Given the description of an element on the screen output the (x, y) to click on. 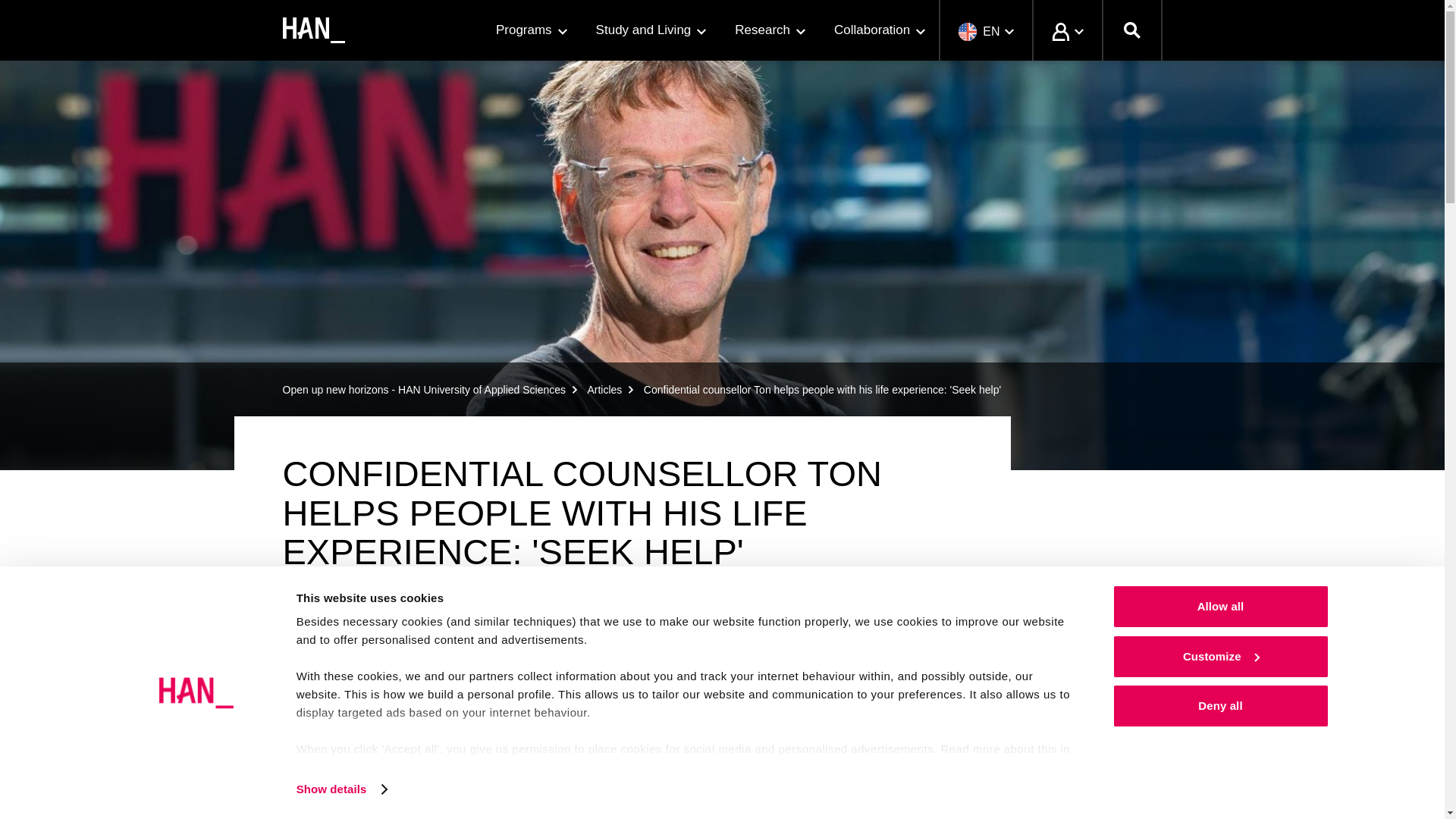
cookie statement (517, 766)
privacy statement (367, 766)
Show details (341, 789)
cookie statement (510, 784)
